Given the description of an element on the screen output the (x, y) to click on. 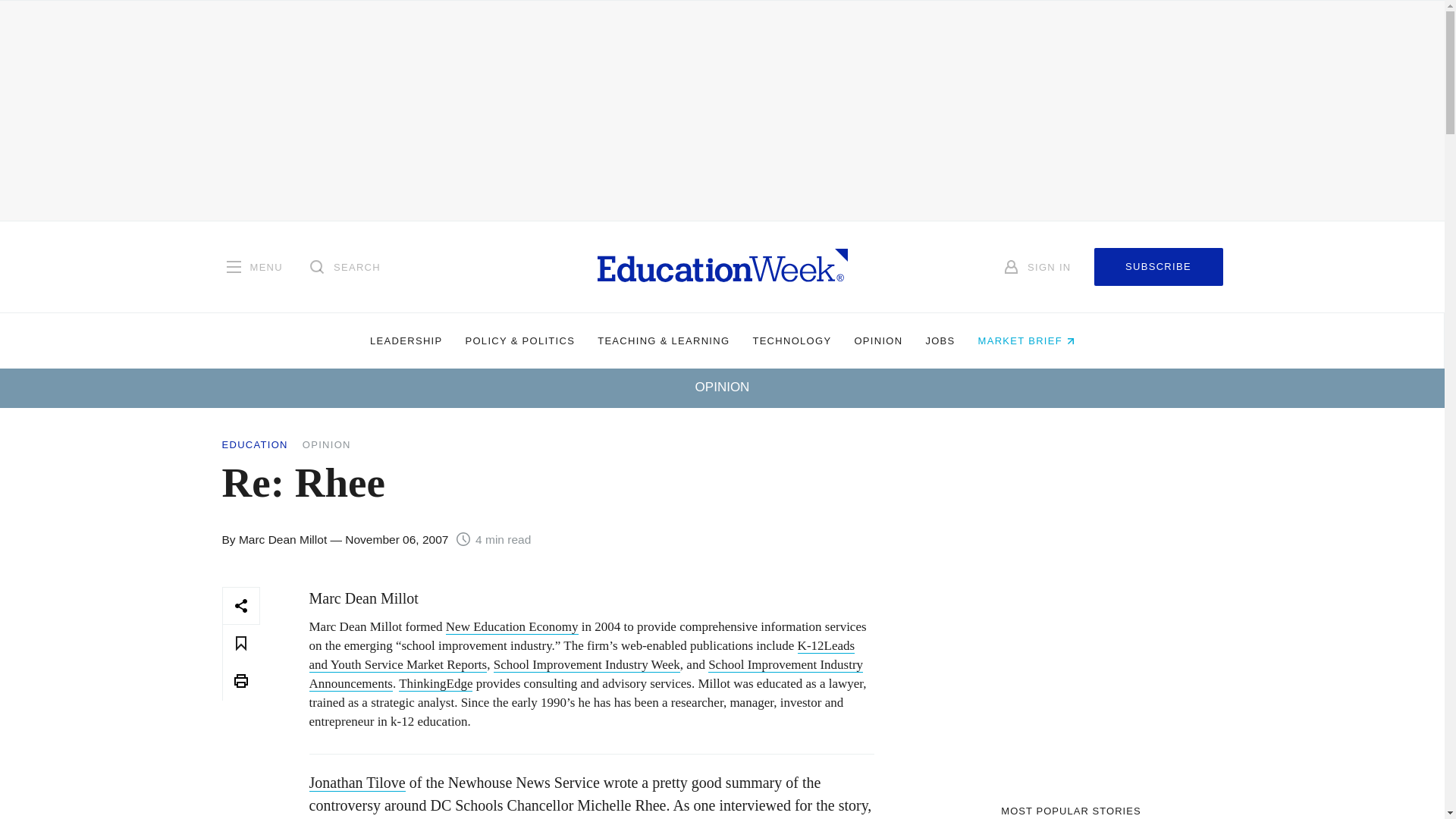
Homepage (721, 266)
3rd party ad content (1070, 681)
